Given the description of an element on the screen output the (x, y) to click on. 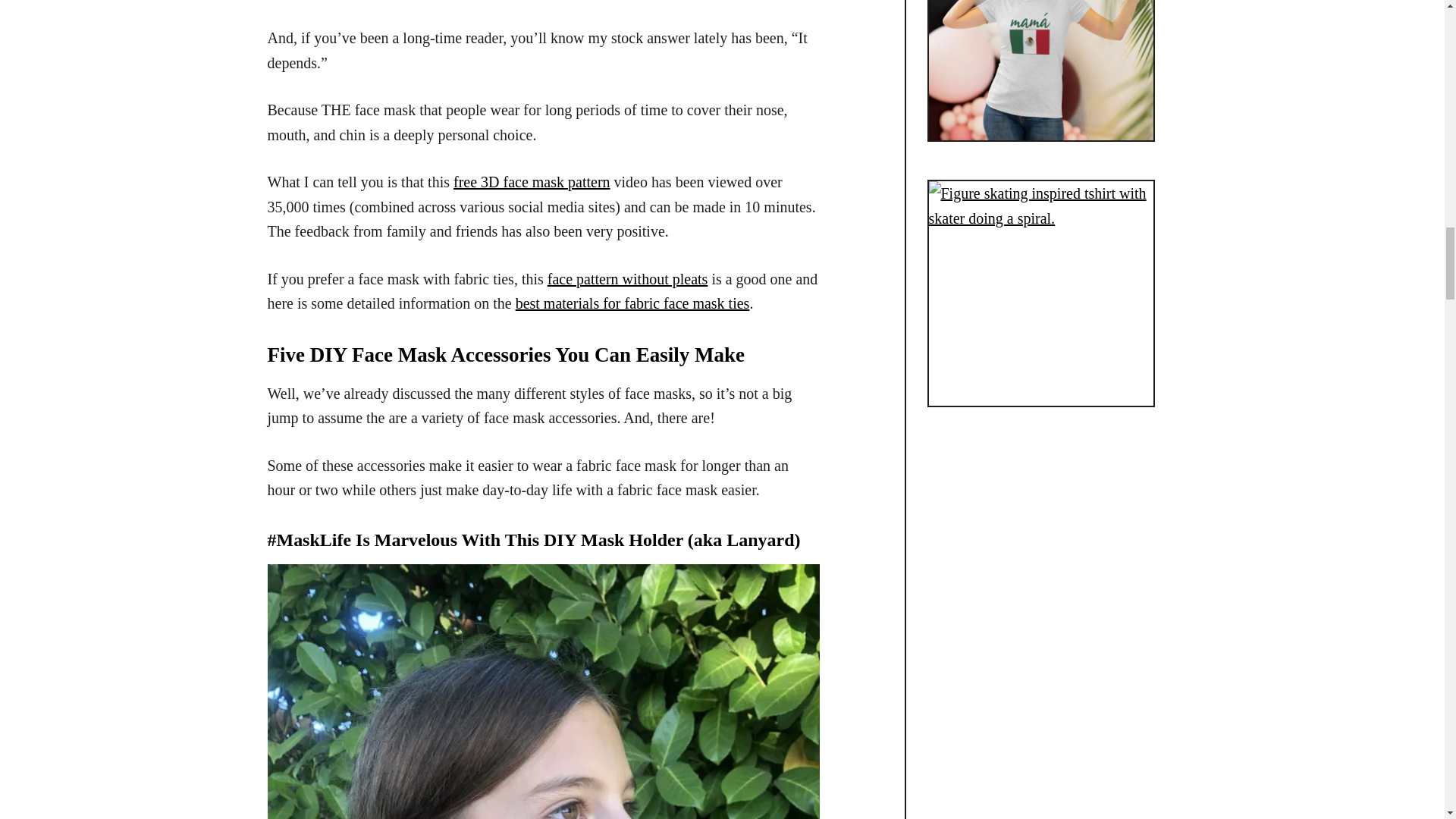
best materials for fabric face mask ties (632, 303)
free 3D face mask pattern (531, 181)
face pattern without pleats (627, 279)
